Given the description of an element on the screen output the (x, y) to click on. 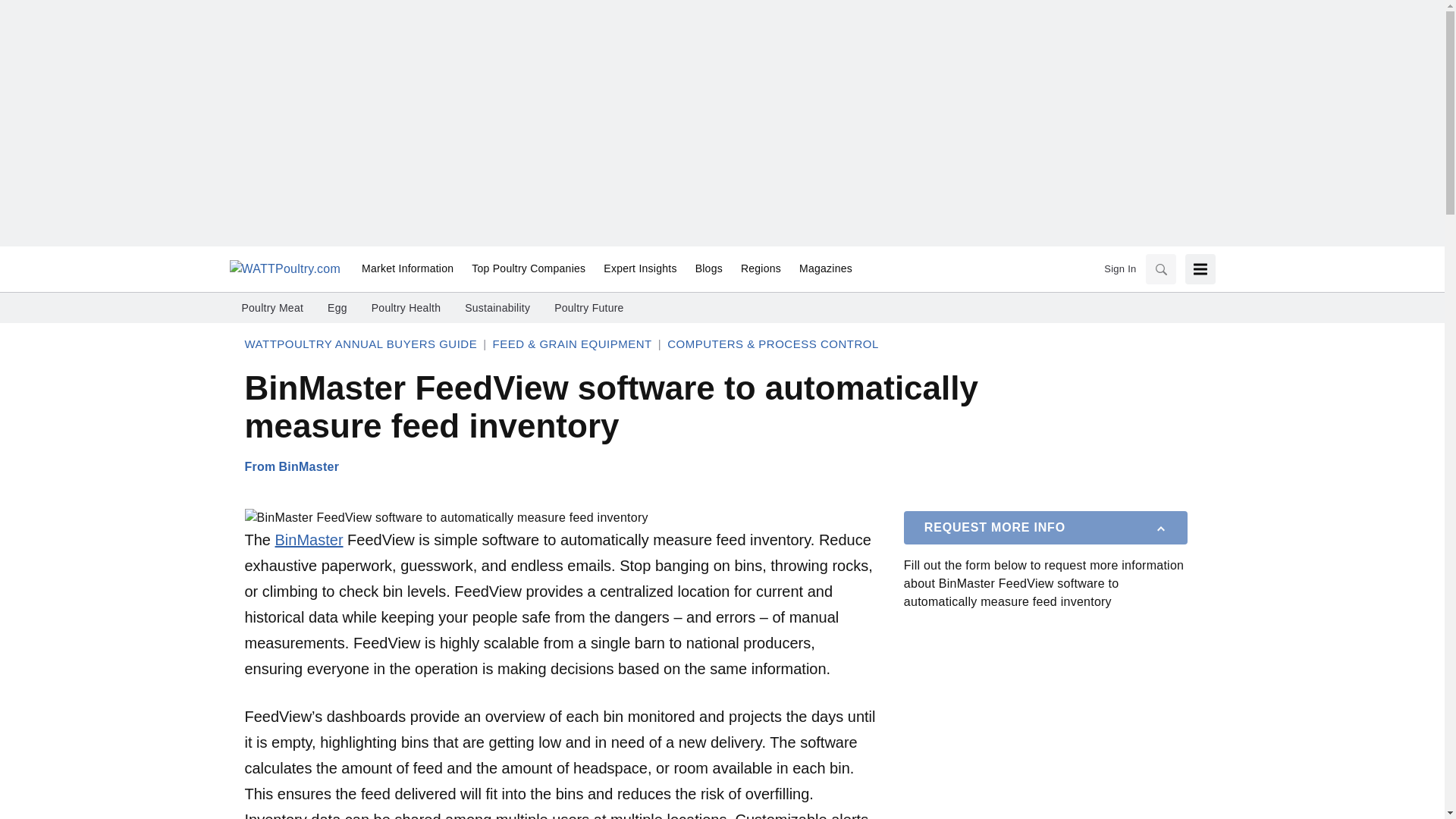
Top Poultry Companies (528, 269)
Sustainability (496, 307)
Expert Insights (639, 269)
Regions (761, 269)
Sign In (1119, 268)
Egg (337, 307)
Poultry Future (588, 307)
WATTPoultry Annual Buyers Guide (360, 343)
Poultry Meat (271, 307)
Market Information (407, 269)
